Given the description of an element on the screen output the (x, y) to click on. 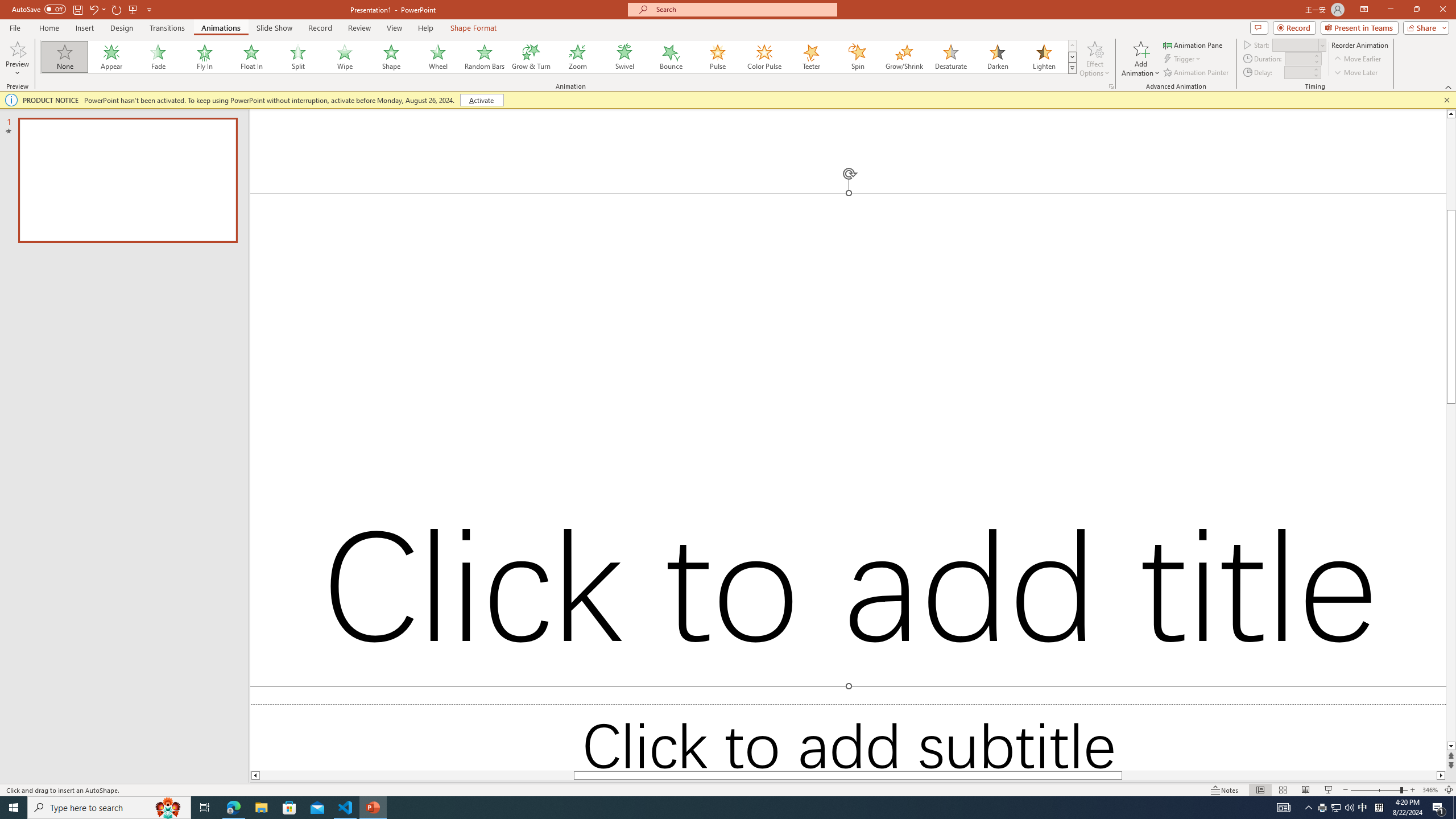
Shape (391, 56)
Pulse (717, 56)
Animation Painter (1196, 72)
None (65, 56)
Appear (111, 56)
